Given the description of an element on the screen output the (x, y) to click on. 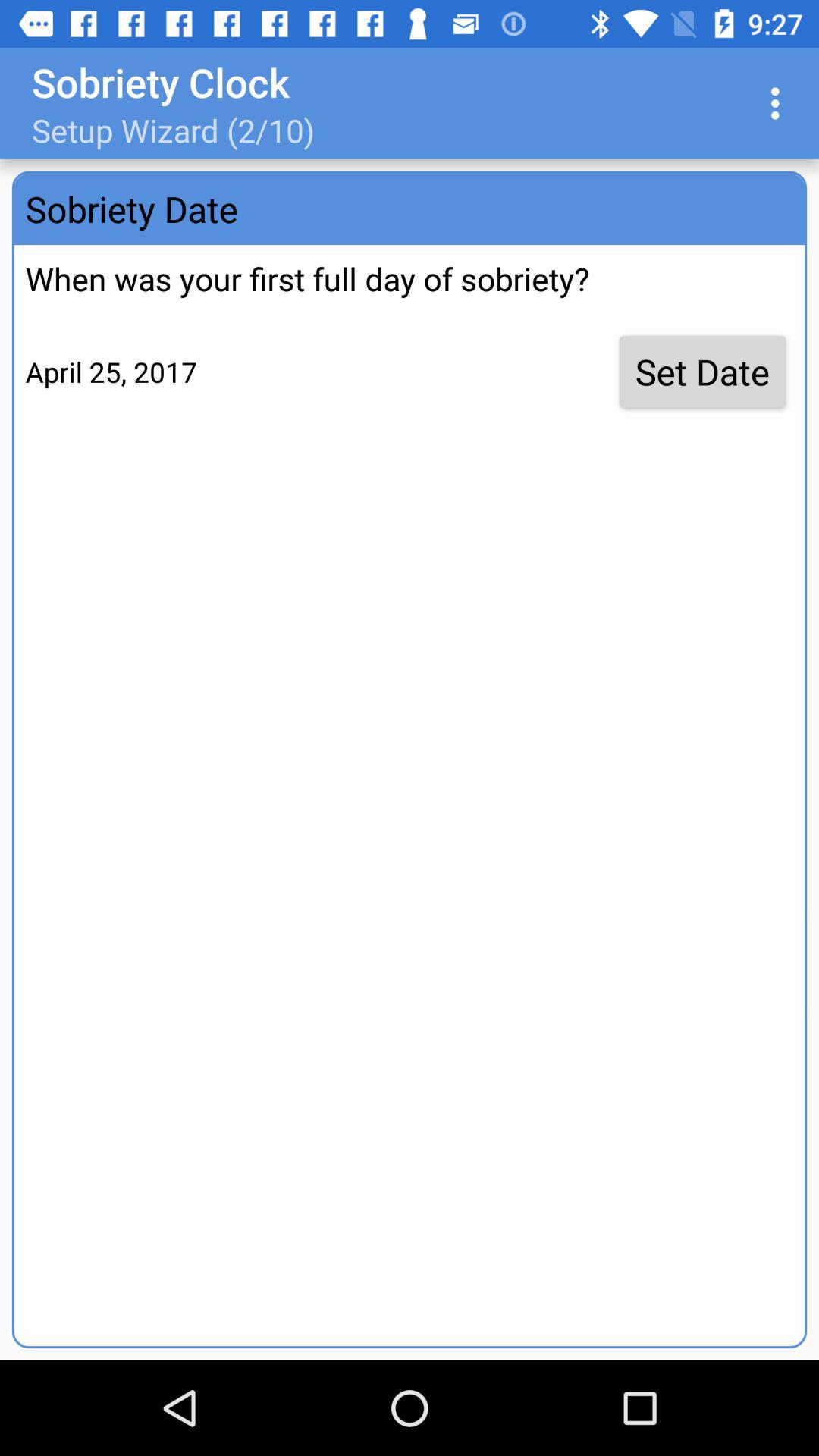
swipe until the set date item (702, 371)
